Given the description of an element on the screen output the (x, y) to click on. 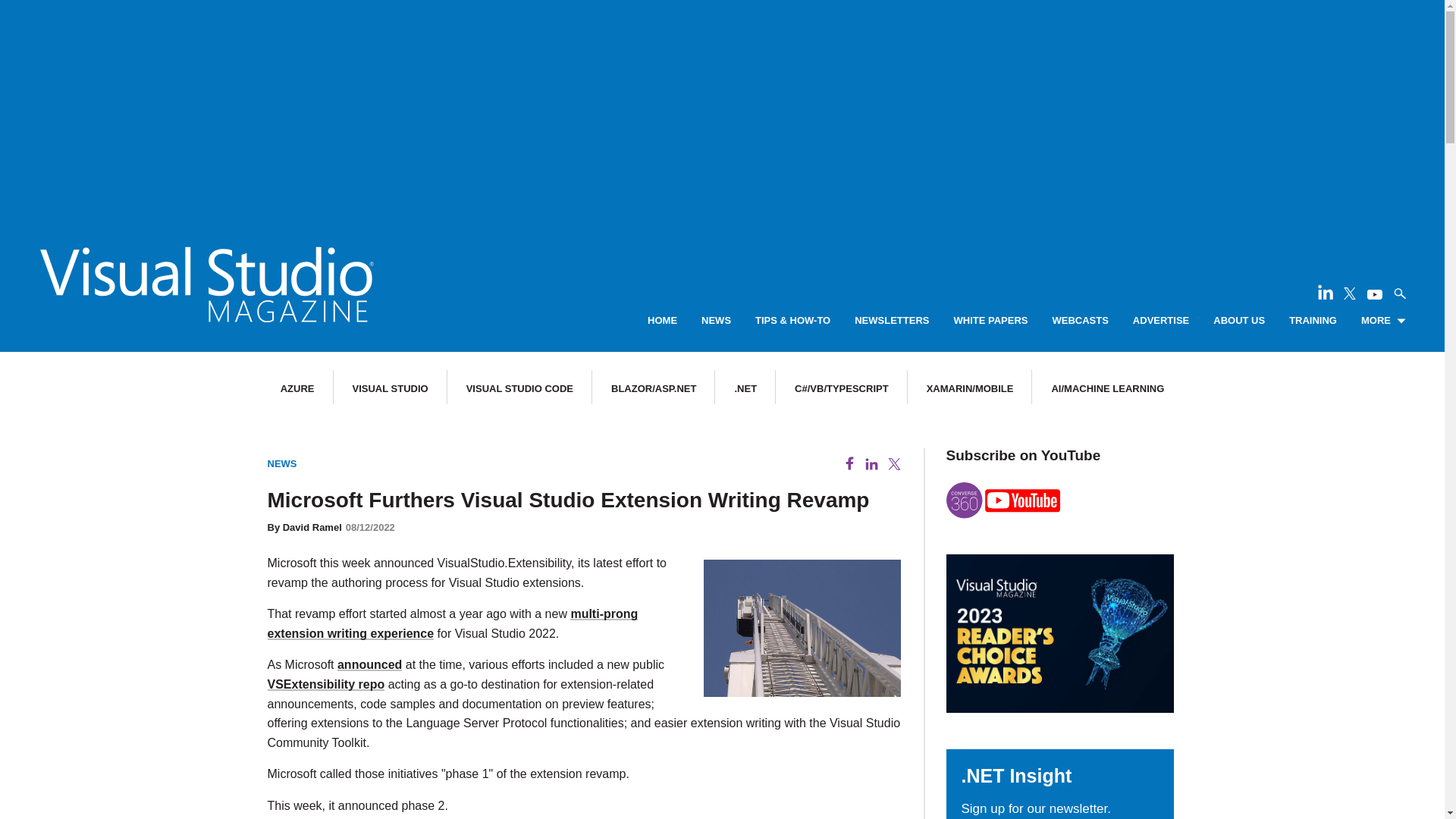
TRAINING (1312, 320)
VISUAL STUDIO CODE (519, 388)
AZURE (297, 388)
HOME (662, 320)
VISUAL STUDIO (390, 388)
.NET (745, 388)
ABOUT US (1238, 320)
WEBCASTS (1079, 320)
ADVERTISE (1160, 320)
